Given the description of an element on the screen output the (x, y) to click on. 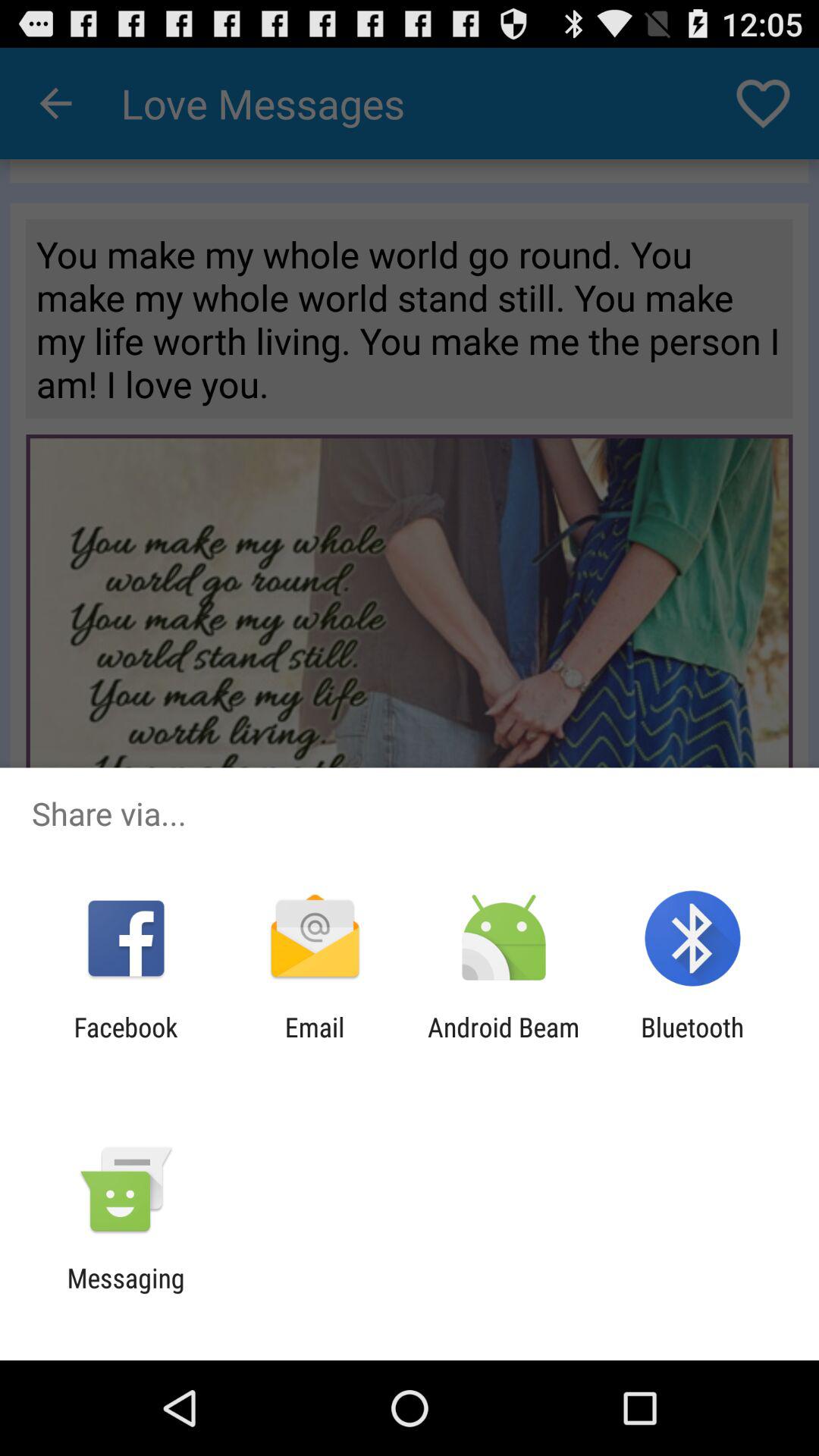
jump until messaging icon (125, 1293)
